Given the description of an element on the screen output the (x, y) to click on. 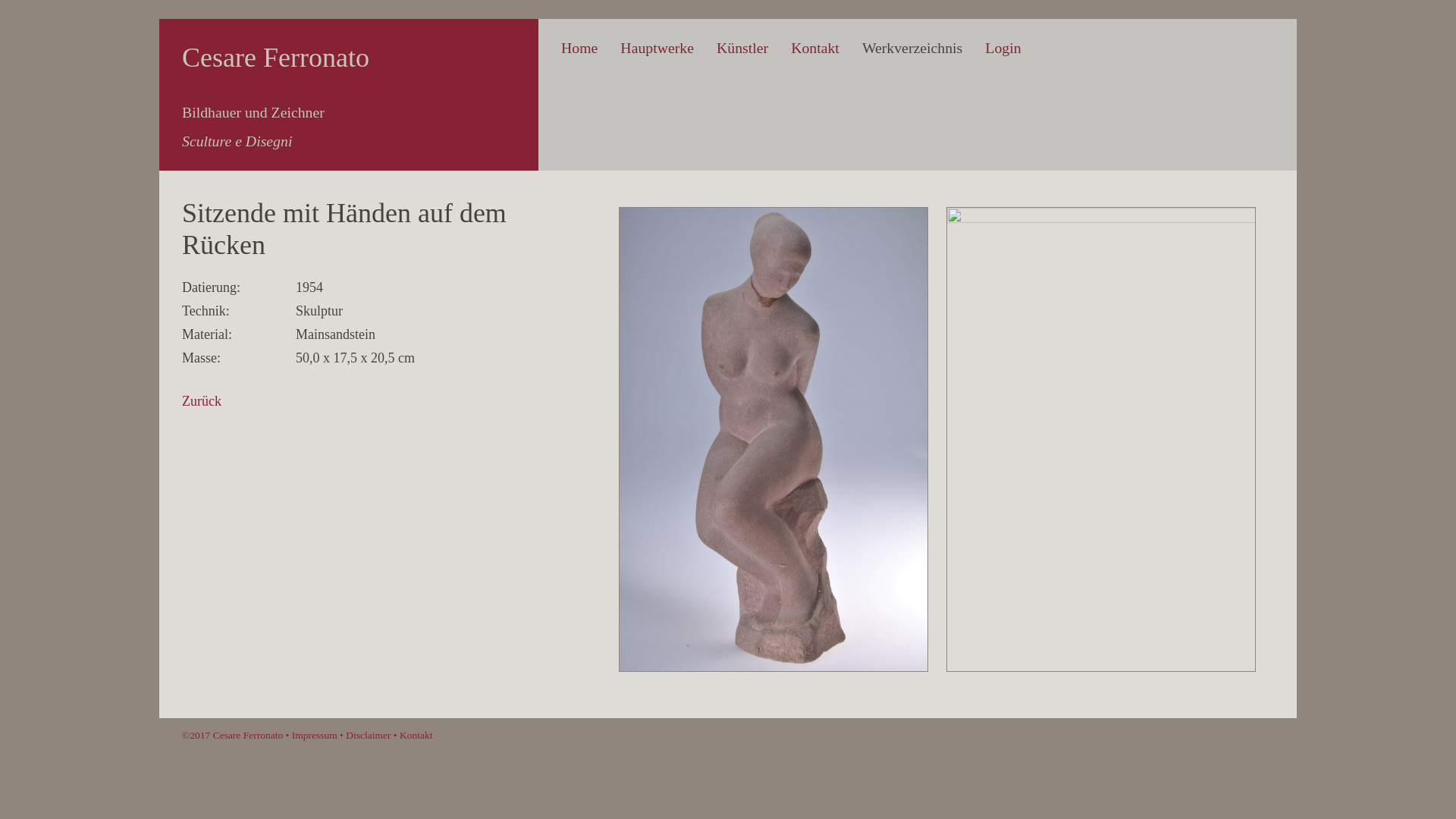
  Element type: text (1043, 18)
Kontakt Element type: text (814, 47)
Disclaimer Element type: text (367, 734)
Impressum Element type: text (314, 734)
DSC_8012.jpg Element type: hover (1100, 217)
Home Element type: text (579, 47)
Login Element type: text (1002, 47)
Cesare Ferronato Element type: text (275, 57)
Kontakt Element type: text (416, 734)
Hauptwerke Element type: text (656, 47)
DSC_8009.jpg Element type: hover (773, 666)
Werkverzeichnis Element type: text (912, 47)
